Given the description of an element on the screen output the (x, y) to click on. 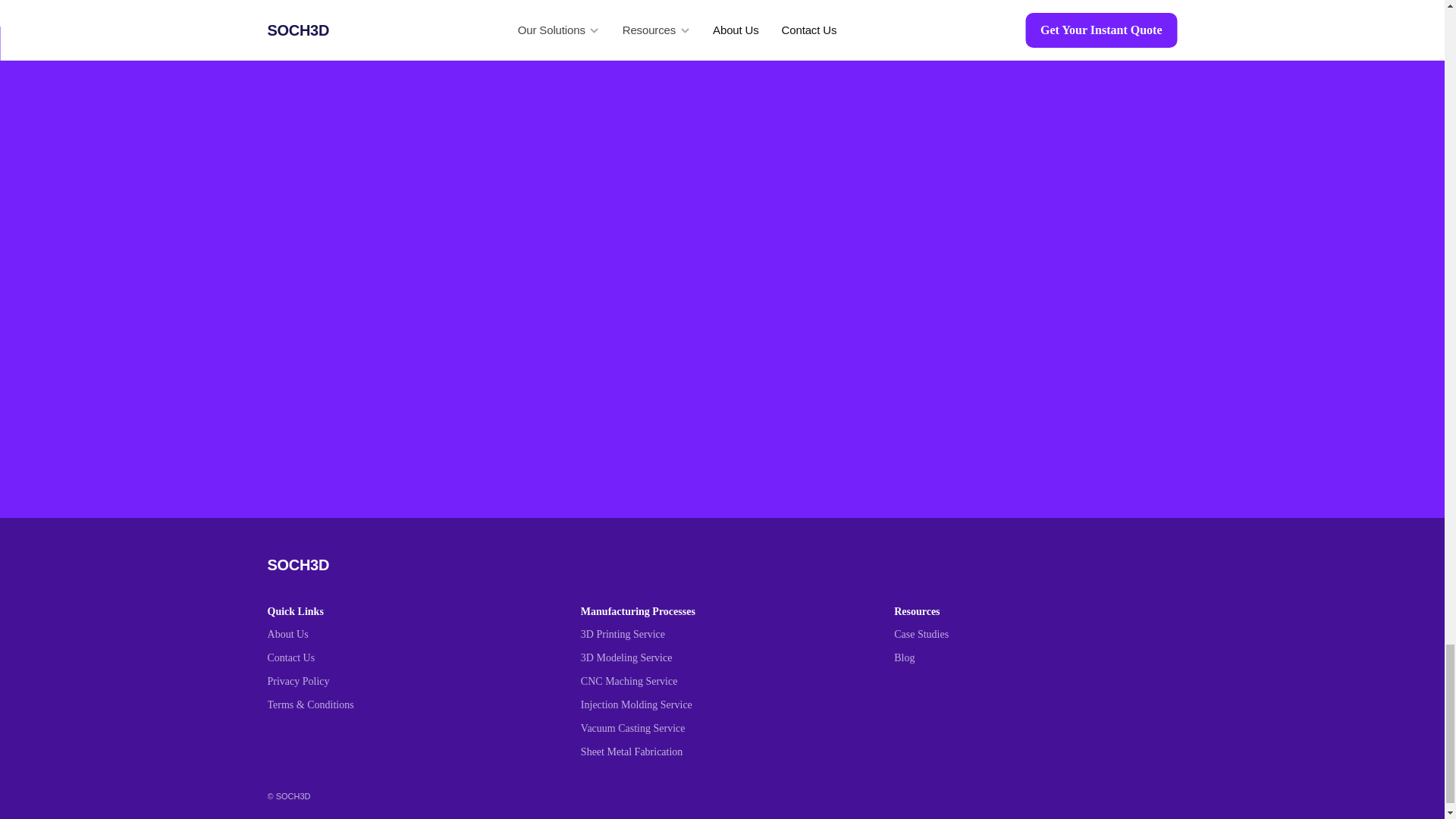
About Us (287, 633)
CNC Maching Service (629, 681)
Case Studies (921, 633)
SOCH3D (297, 565)
Privacy Policy (298, 681)
Vacuum Casting Service (632, 727)
Contact Us (291, 657)
3D Printing Service (622, 633)
3D Modeling  (610, 657)
Injection Molding Service (636, 704)
Blog (903, 657)
shoes entirely made by 3D printing (962, 764)
